Given the description of an element on the screen output the (x, y) to click on. 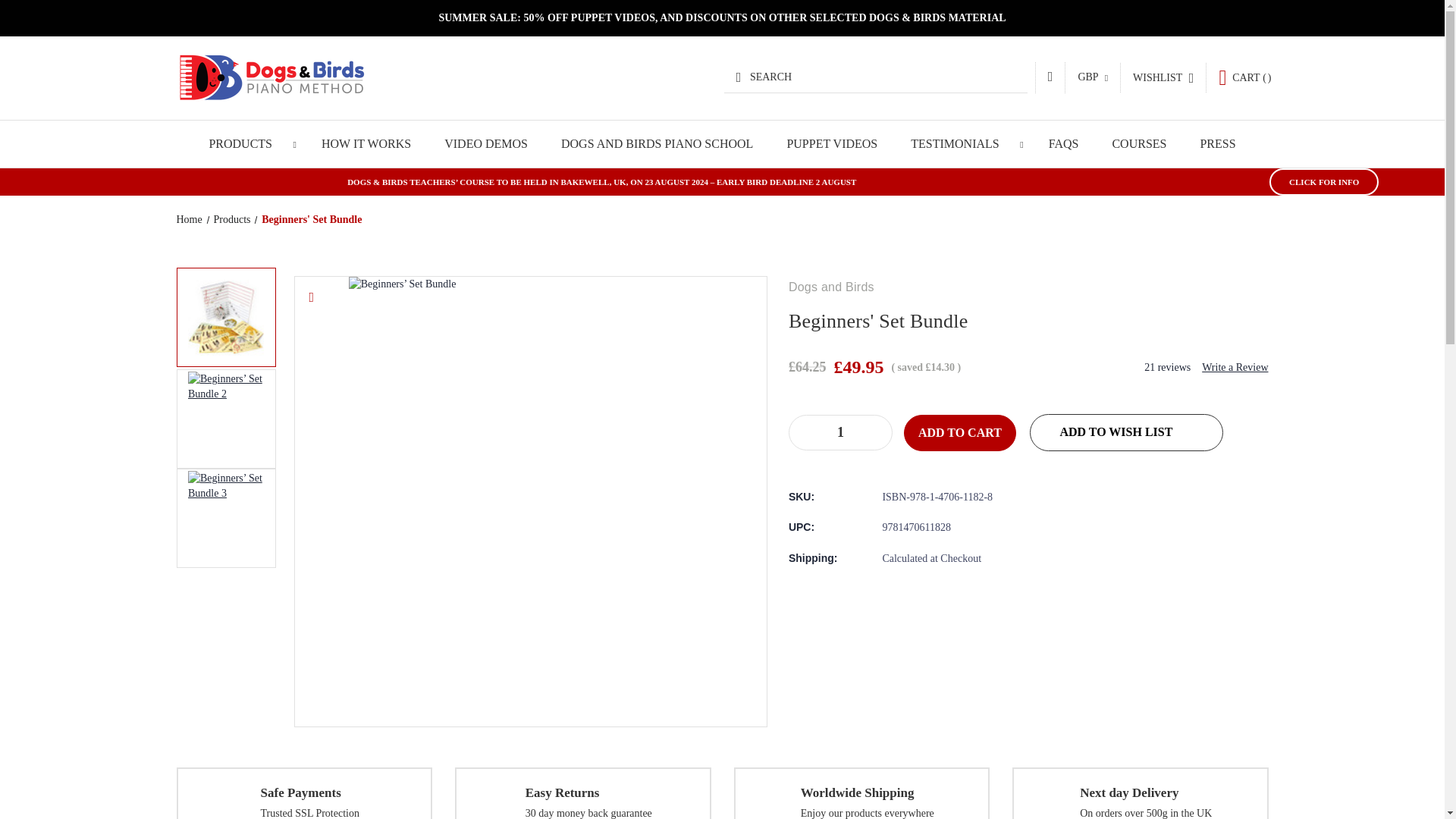
GBP (1092, 77)
TESTIMONIALS (961, 143)
VIDEO DEMOS (486, 143)
PRESS (1217, 143)
COURSES (1138, 143)
CART (1244, 77)
Dogs and Birds (270, 77)
PRODUCTS (248, 143)
DOGS AND BIRDS PIANO SCHOOL (657, 143)
PUPPET VIDEOS (831, 143)
FAQS (1064, 143)
